Given the description of an element on the screen output the (x, y) to click on. 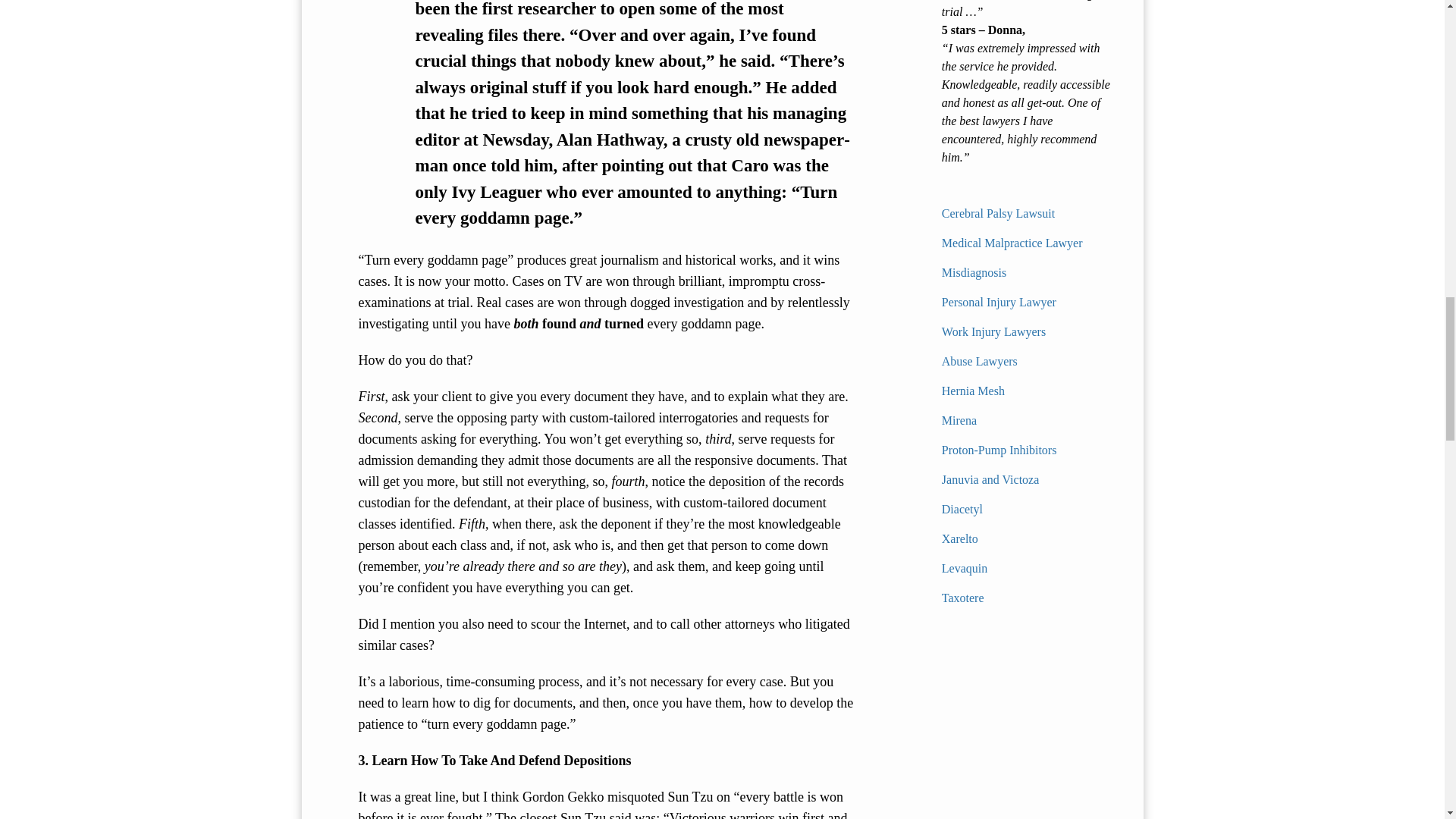
Workplace Injury and On The Job Accident Lawsuits (993, 331)
